Given the description of an element on the screen output the (x, y) to click on. 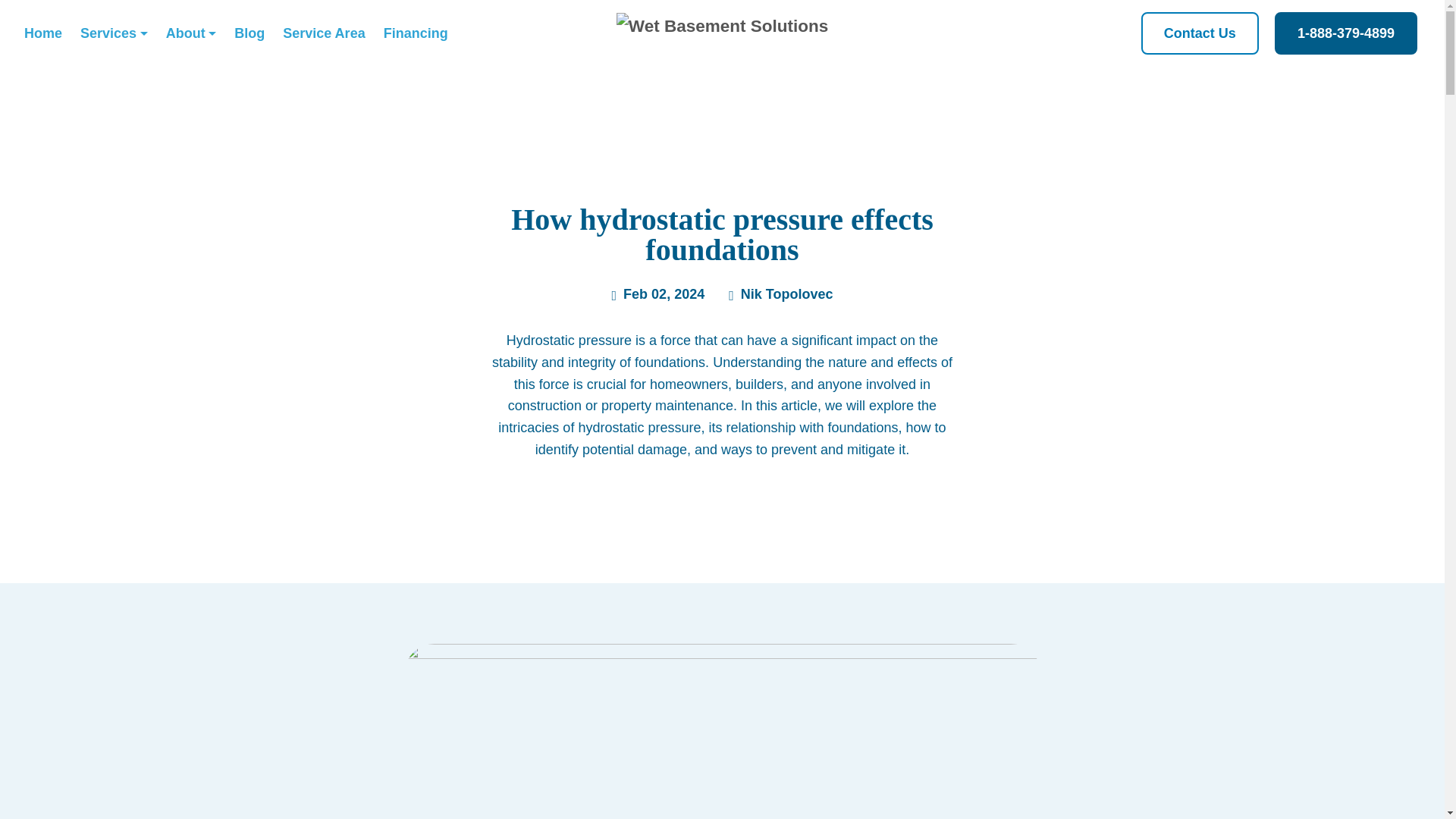
Home (42, 33)
Blog (249, 33)
Contact Us (1200, 33)
Service Area (323, 33)
Home (42, 33)
Blog (249, 33)
Services (114, 33)
Financing (415, 33)
About (191, 33)
1-888-379-4899 (1345, 33)
